Given the description of an element on the screen output the (x, y) to click on. 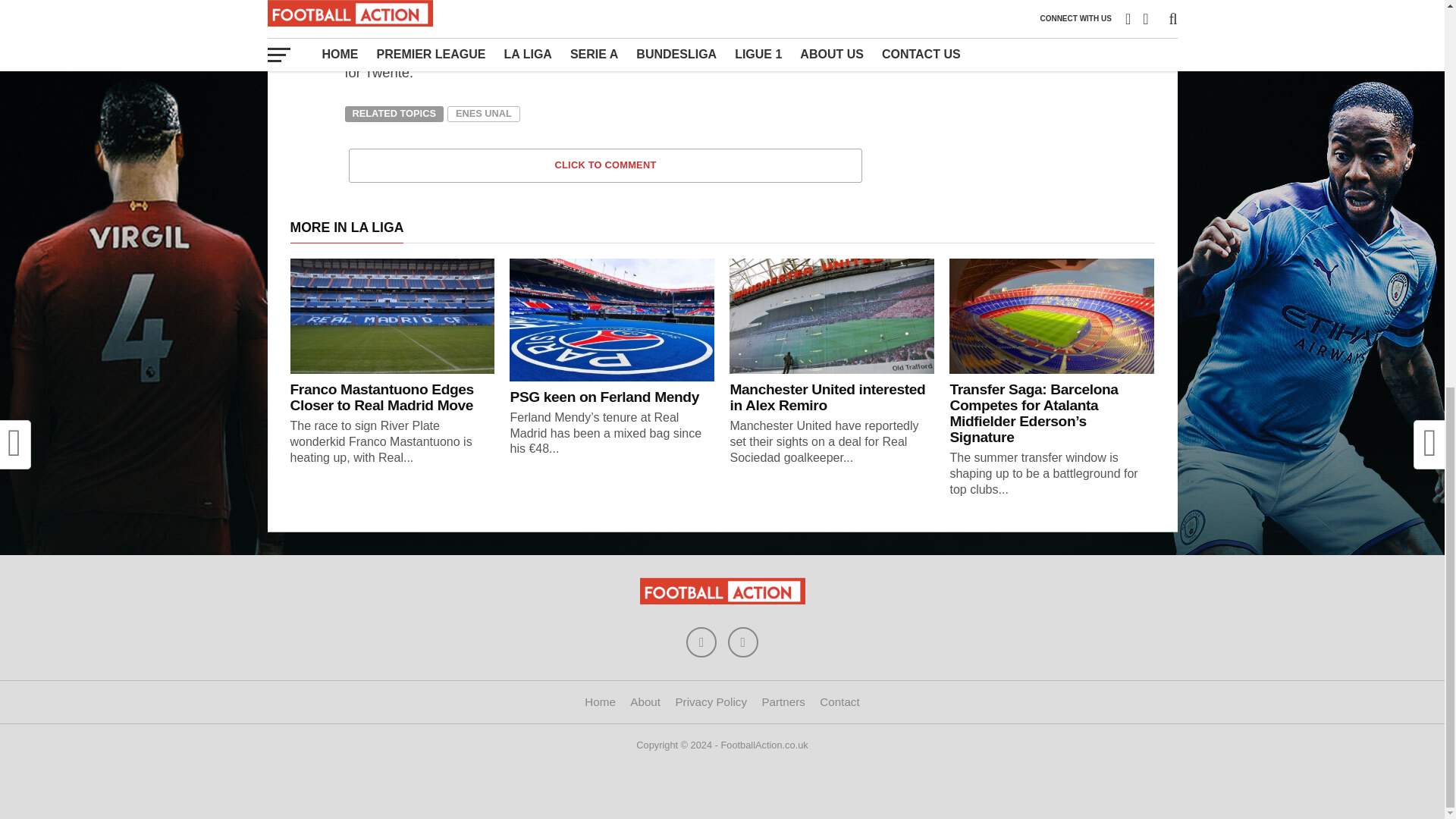
ENES UNAL (482, 114)
